Given the description of an element on the screen output the (x, y) to click on. 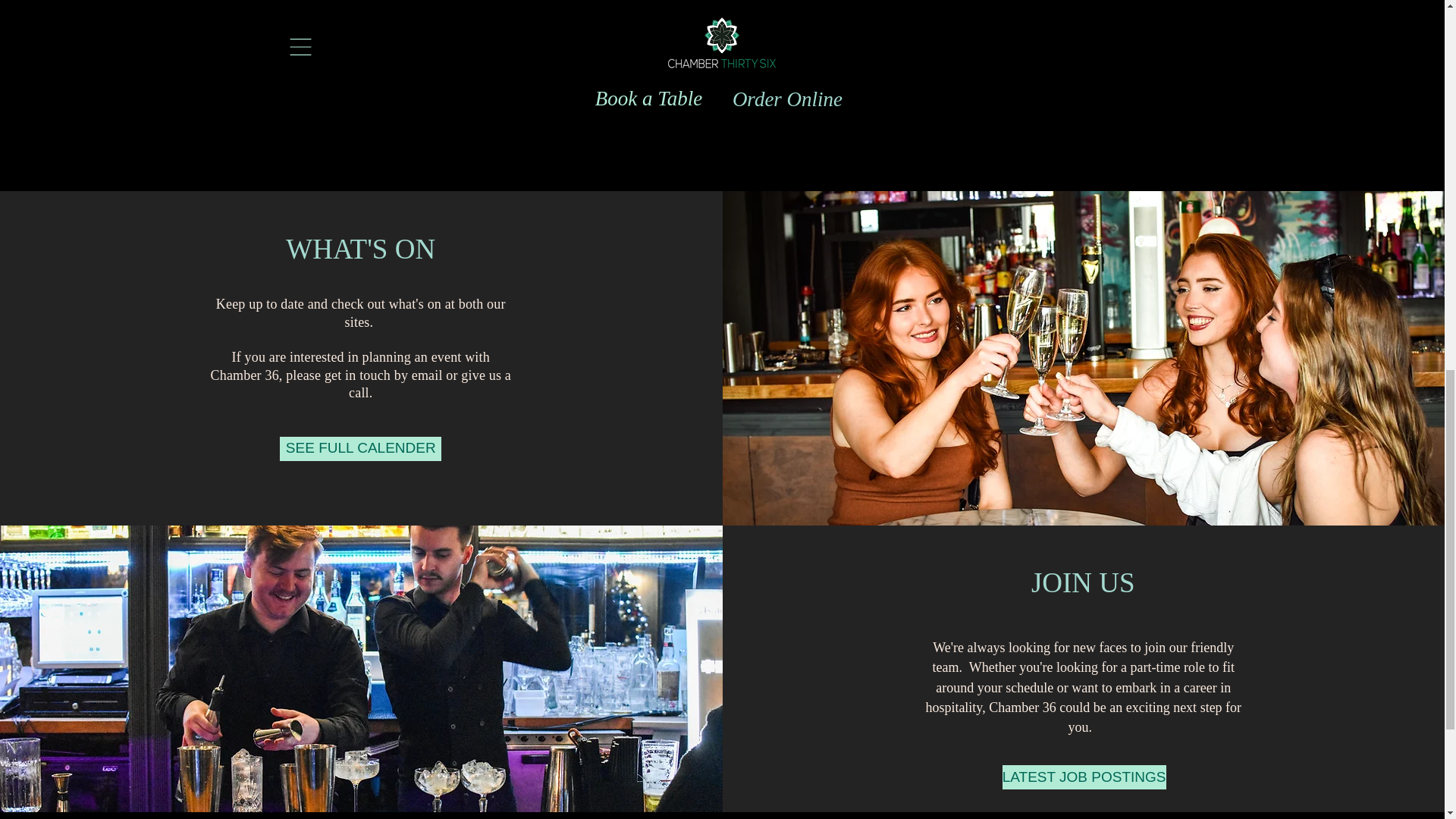
BOOK (429, 114)
BOOK (798, 114)
SEE FULL CALENDER (360, 448)
FIND OUT MORE (922, 114)
FIND OUT MORE (549, 114)
LATEST JOB POSTINGS (1084, 776)
